Given the description of an element on the screen output the (x, y) to click on. 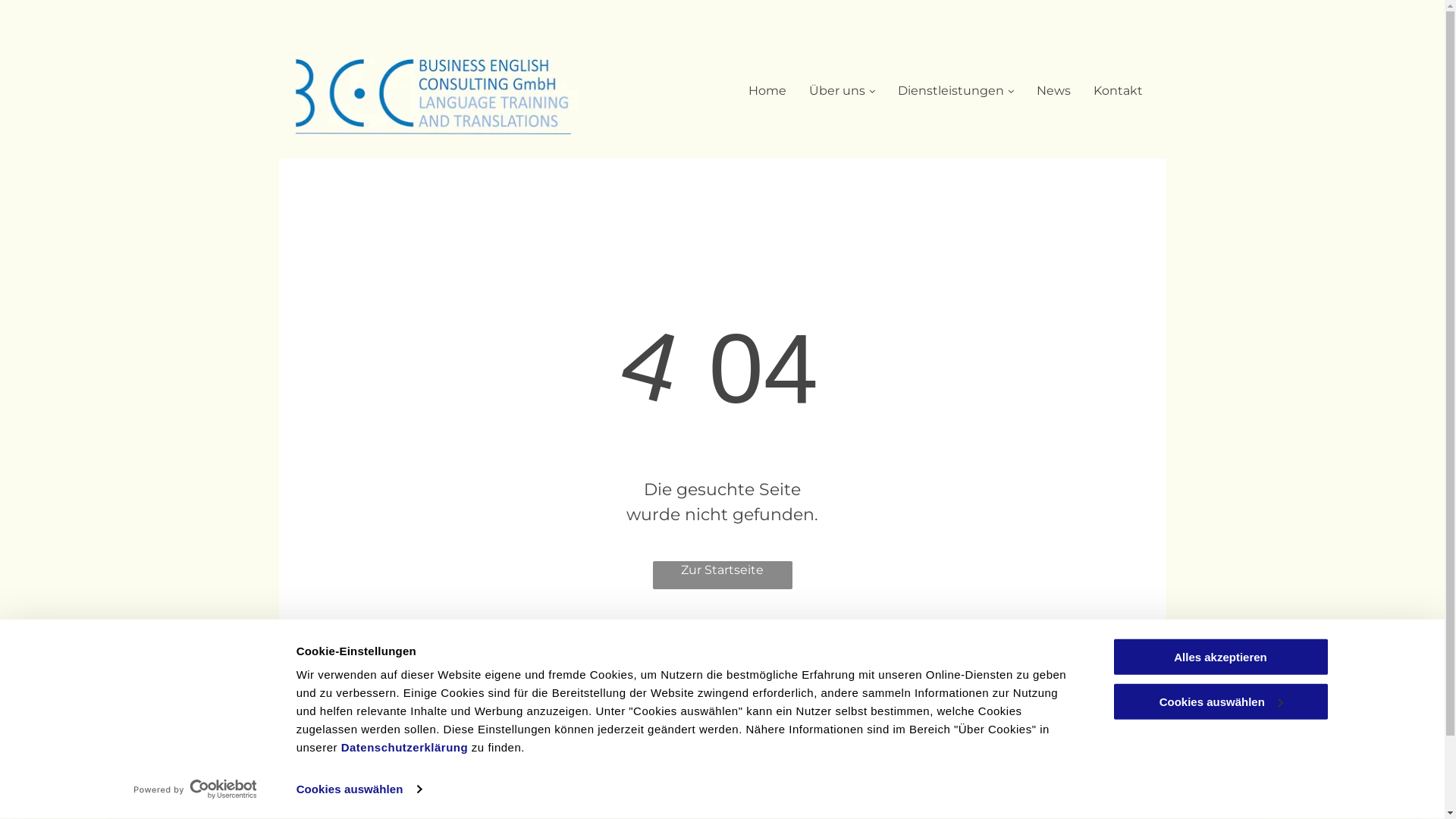
Dienstleistungen Element type: text (955, 90)
Home Element type: text (767, 90)
Impressum Element type: text (1104, 725)
News Element type: text (1053, 90)
031 332 52 47 Element type: text (548, 714)
info@business-english-consult.ch Element type: text (591, 740)
Kontakt Element type: text (1117, 90)
Datenschutz Element type: text (1102, 744)
Alles akzeptieren Element type: text (1219, 656)
Zur Startseite Element type: text (721, 575)
